Given the description of an element on the screen output the (x, y) to click on. 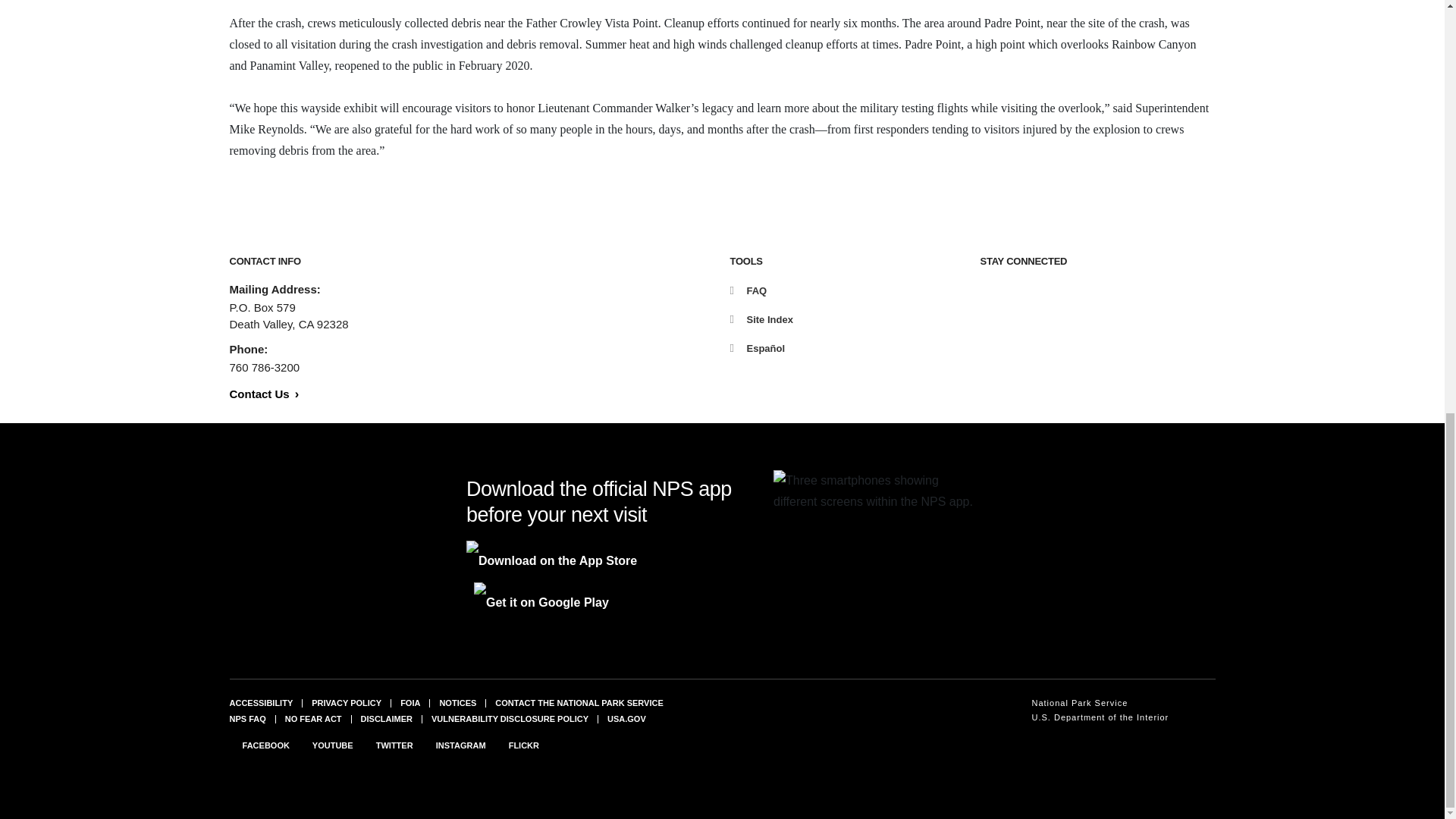
Site Index (760, 319)
Contact Us (263, 393)
FAQ (748, 290)
National Park Service frequently asked questions (246, 718)
